Given the description of an element on the screen output the (x, y) to click on. 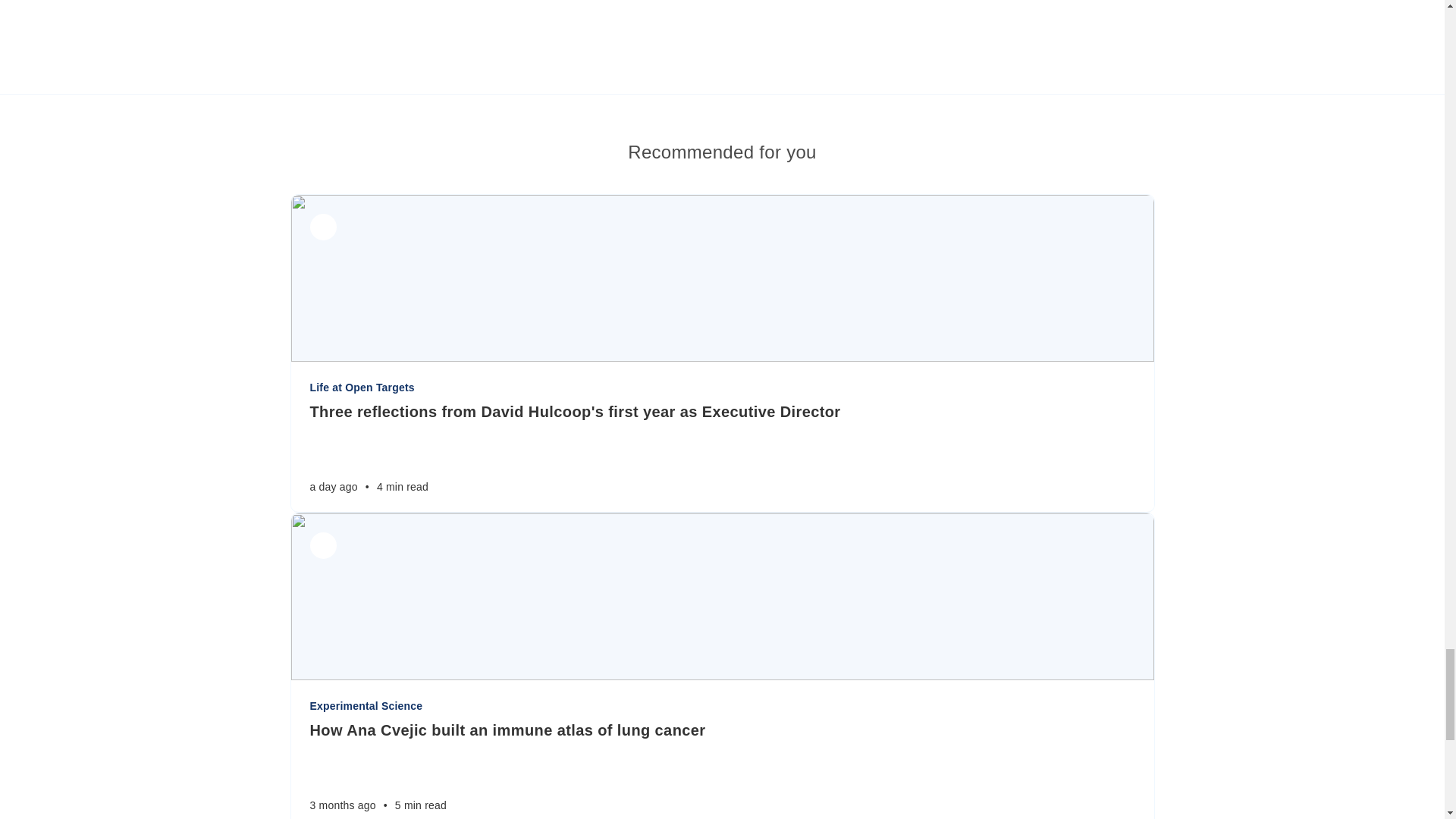
How Ana Cvejic built an immune atlas of lung cancer (721, 730)
Helena Cornu (771, 2)
